Given the description of an element on the screen output the (x, y) to click on. 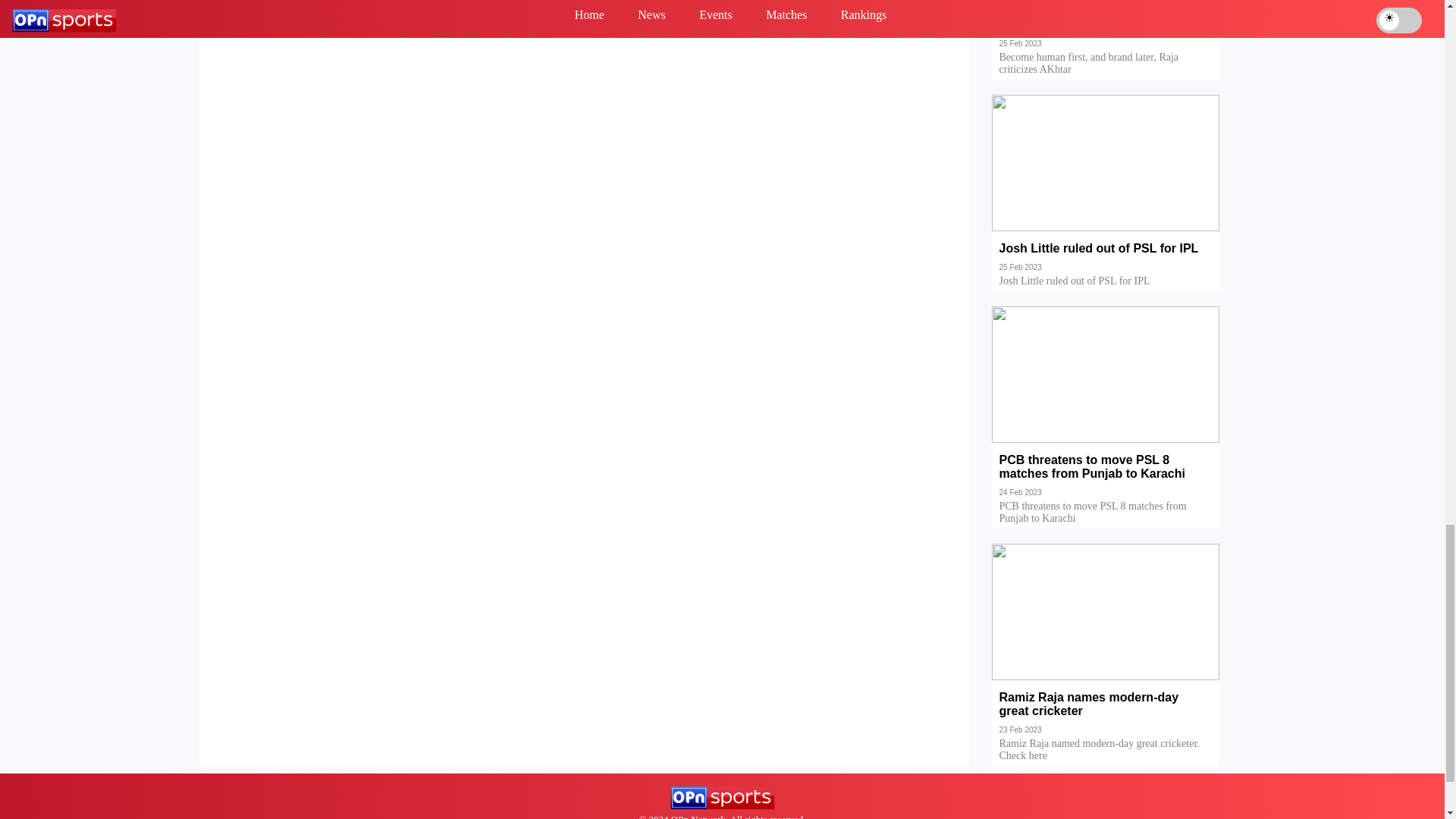
Become human first, and brand later, Raja criticizes AKhtar (1105, 28)
Ramiz Raja names modern-day great cricketer (1105, 715)
PCB threatens to move PSL 8 matches from Punjab to Karachi (1105, 477)
Josh Little ruled out of PSL for IPL (1105, 258)
